Given the description of an element on the screen output the (x, y) to click on. 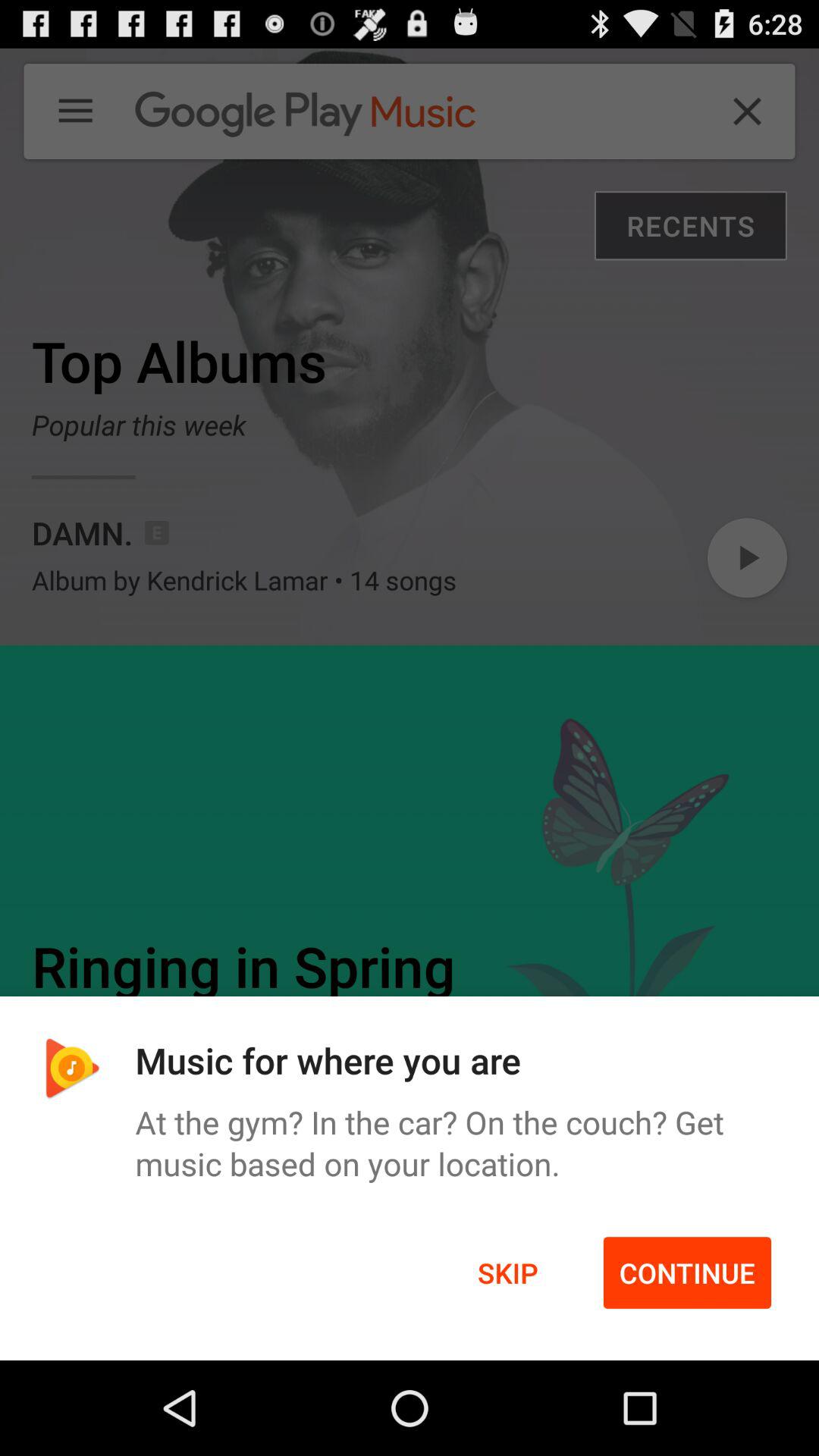
click the item to the right of skip item (687, 1272)
